Given the description of an element on the screen output the (x, y) to click on. 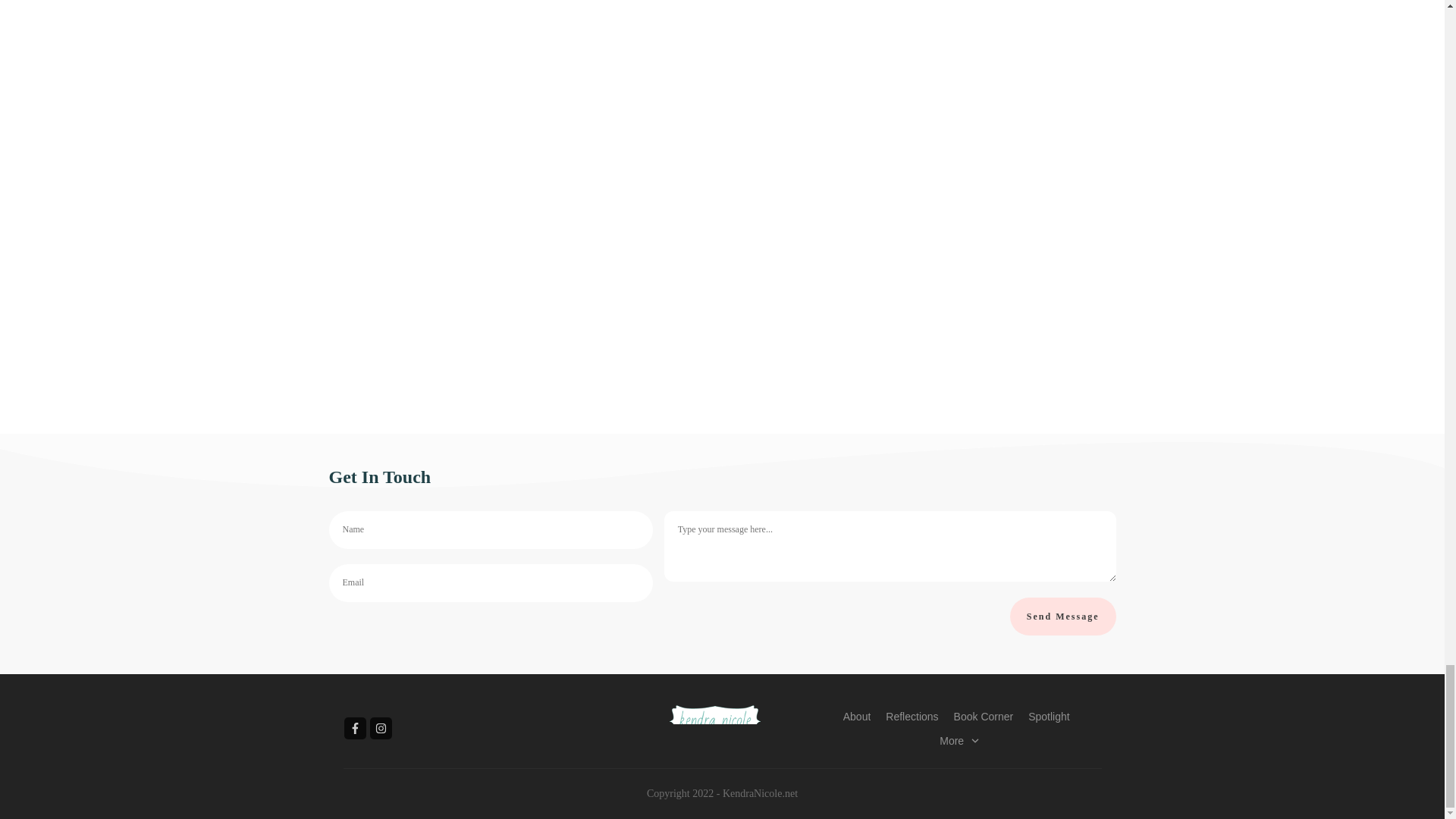
Spotlight (1047, 716)
About (856, 716)
Book Corner (983, 716)
More (959, 740)
Send Message (1063, 616)
Reflections (911, 716)
